Given the description of an element on the screen output the (x, y) to click on. 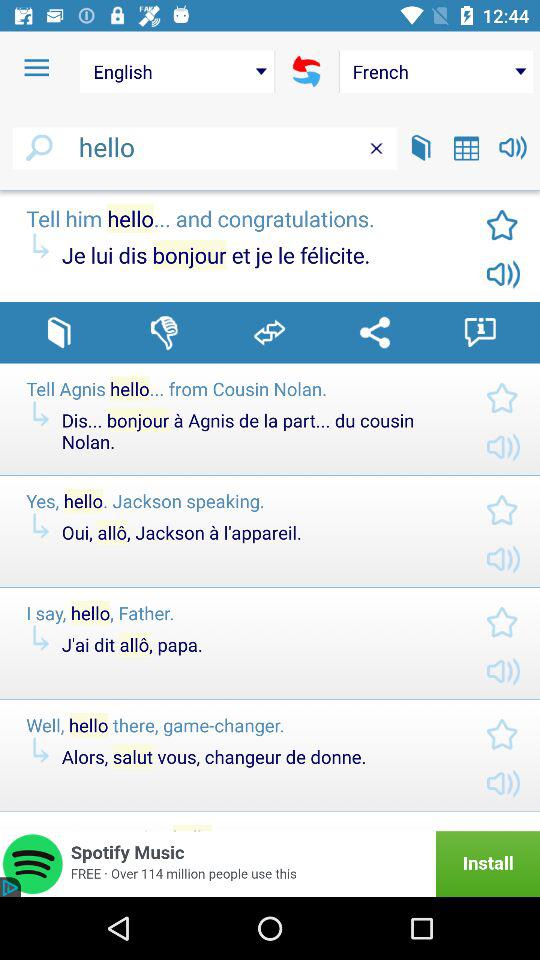
speak word (512, 147)
